Given the description of an element on the screen output the (x, y) to click on. 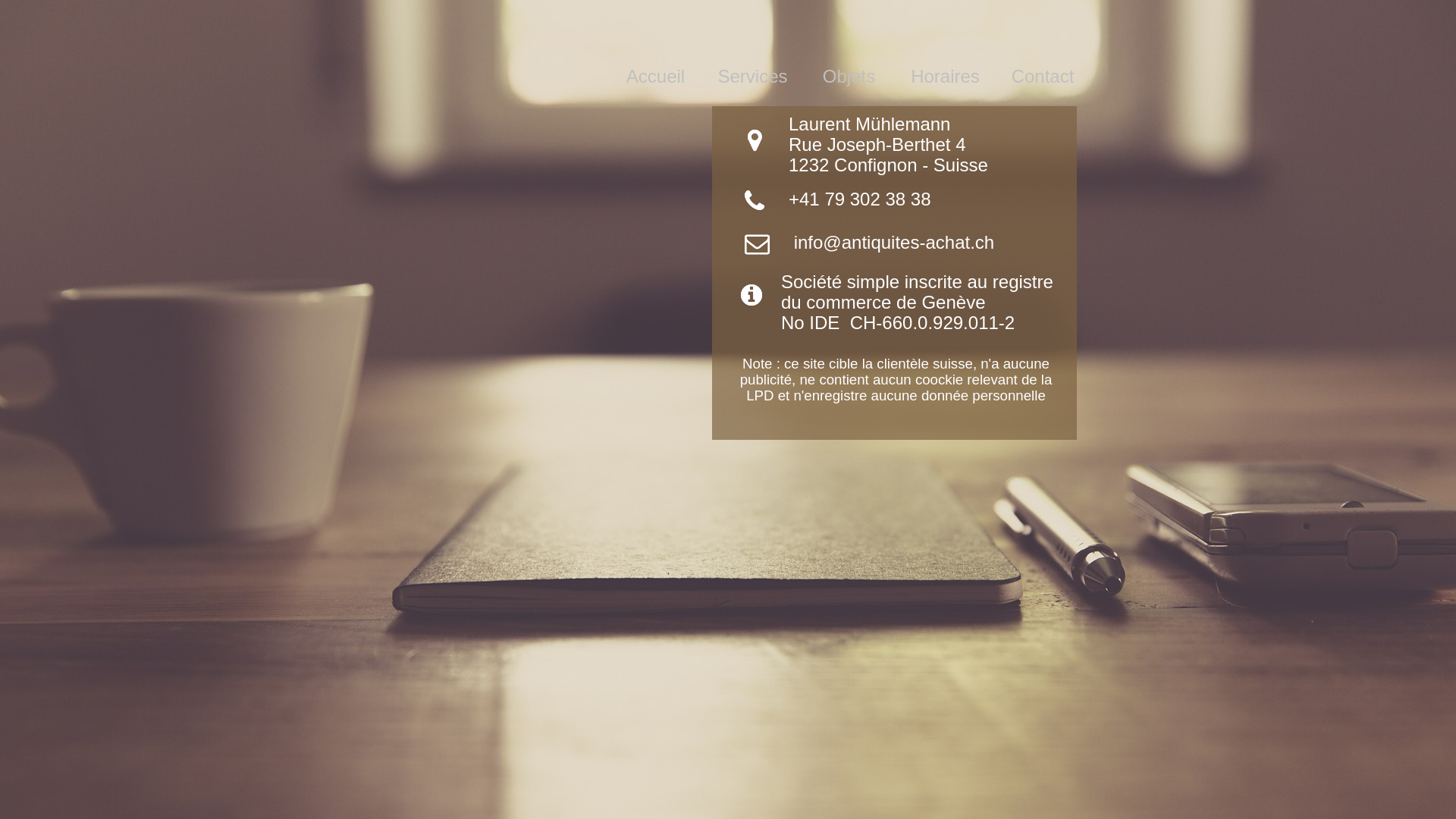
Contact Element type: text (1042, 45)
Services Element type: text (752, 45)
Accueil Element type: text (655, 45)
Objets Element type: text (848, 45)
Horaires Element type: text (945, 45)
